Given the description of an element on the screen output the (x, y) to click on. 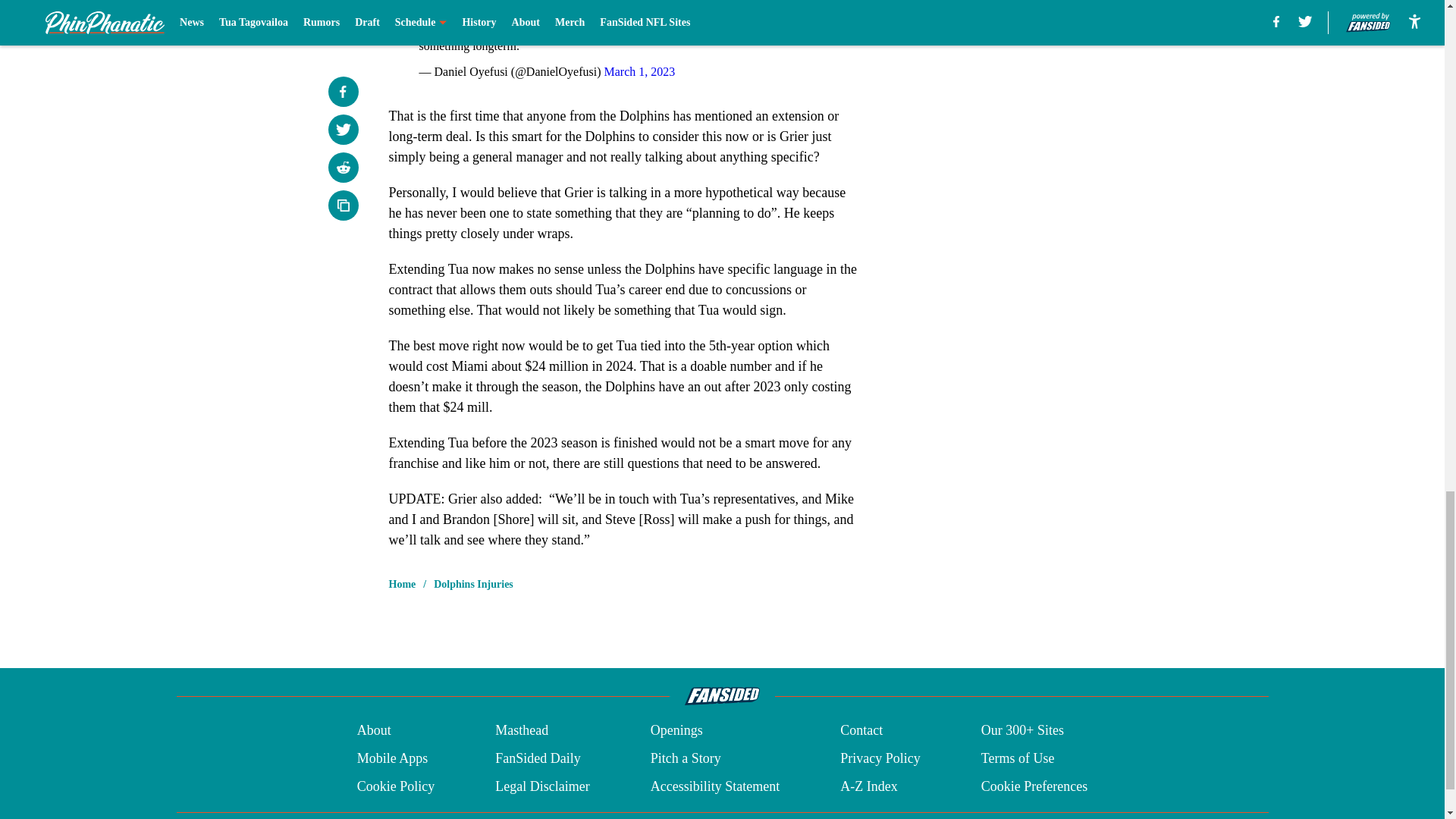
Pitch a Story (685, 758)
Legal Disclaimer (542, 786)
About (373, 730)
March 1, 2023 (639, 71)
Privacy Policy (880, 758)
FanSided Daily (537, 758)
Cookie Preferences (1034, 786)
Accessibility Statement (714, 786)
A-Z Index (868, 786)
Cookie Policy (395, 786)
Home (401, 584)
Contact (861, 730)
Masthead (521, 730)
Dolphins Injuries (473, 584)
Openings (676, 730)
